Given the description of an element on the screen output the (x, y) to click on. 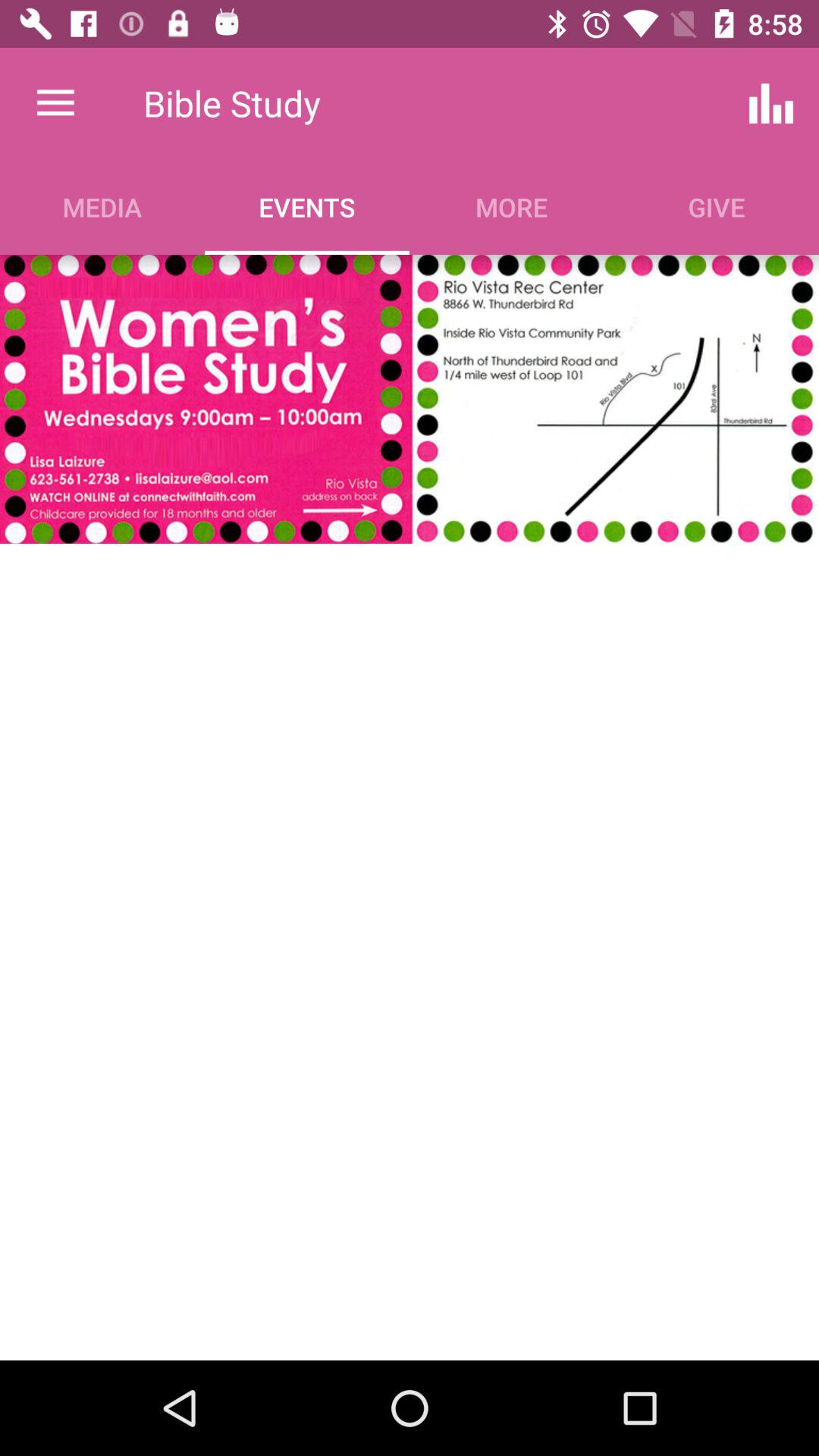
choose item below the events (409, 398)
